Given the description of an element on the screen output the (x, y) to click on. 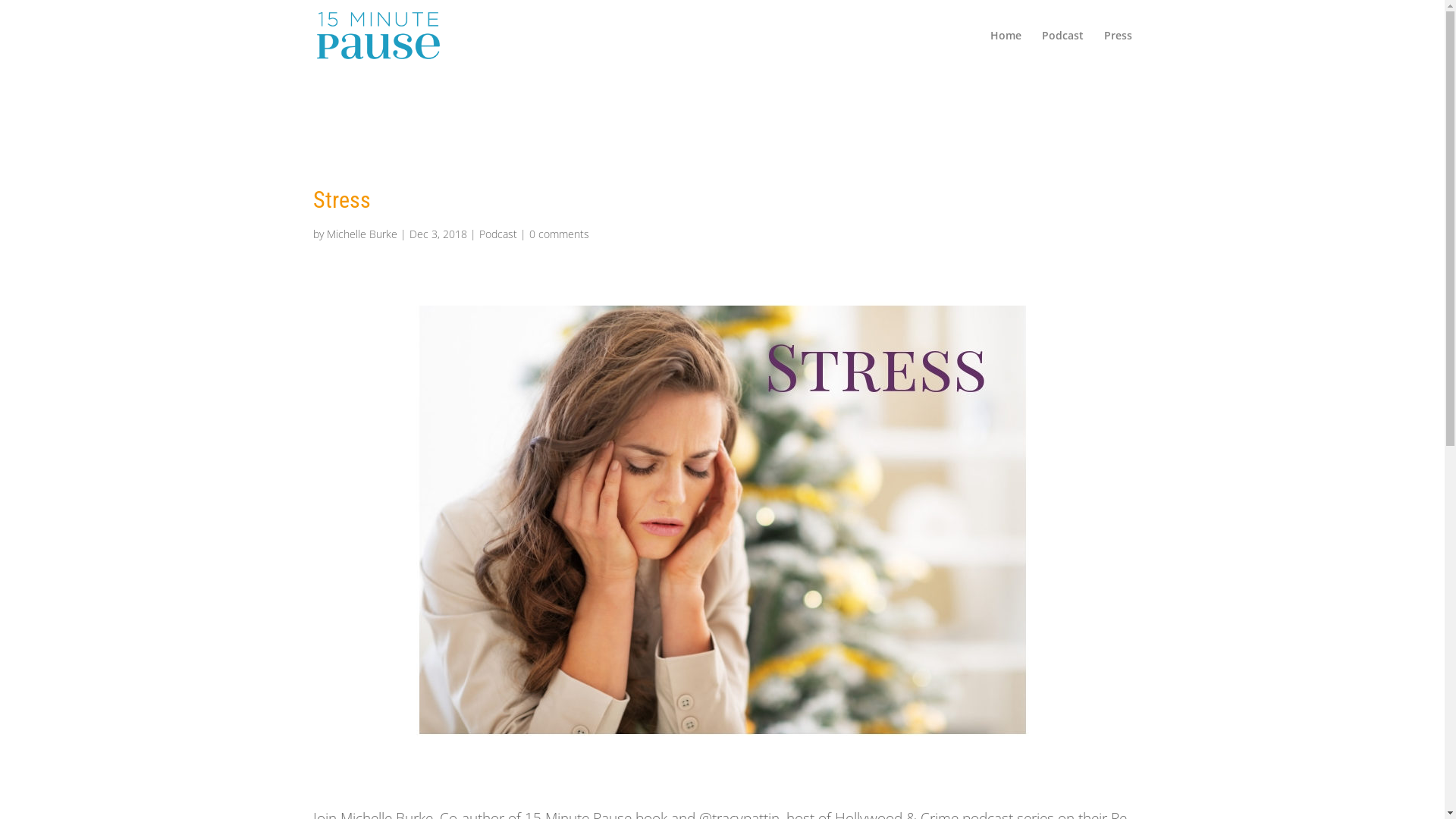
0 comments Element type: text (559, 233)
Podcast Element type: text (498, 233)
Michelle Burke Element type: text (361, 233)
Press Element type: text (1118, 50)
Podcast Element type: text (1062, 50)
Home Element type: text (1005, 50)
